Given the description of an element on the screen output the (x, y) to click on. 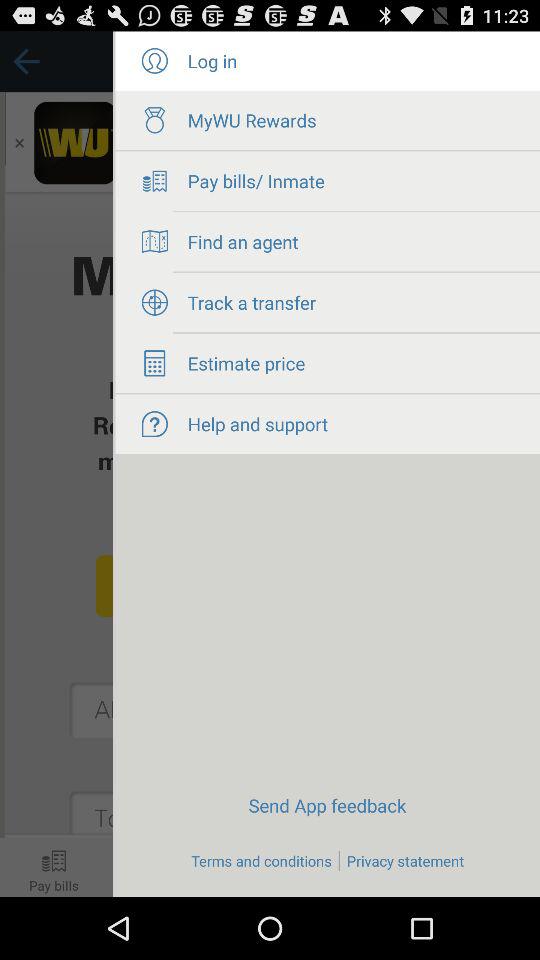
close pop up menu (56, 464)
